Given the description of an element on the screen output the (x, y) to click on. 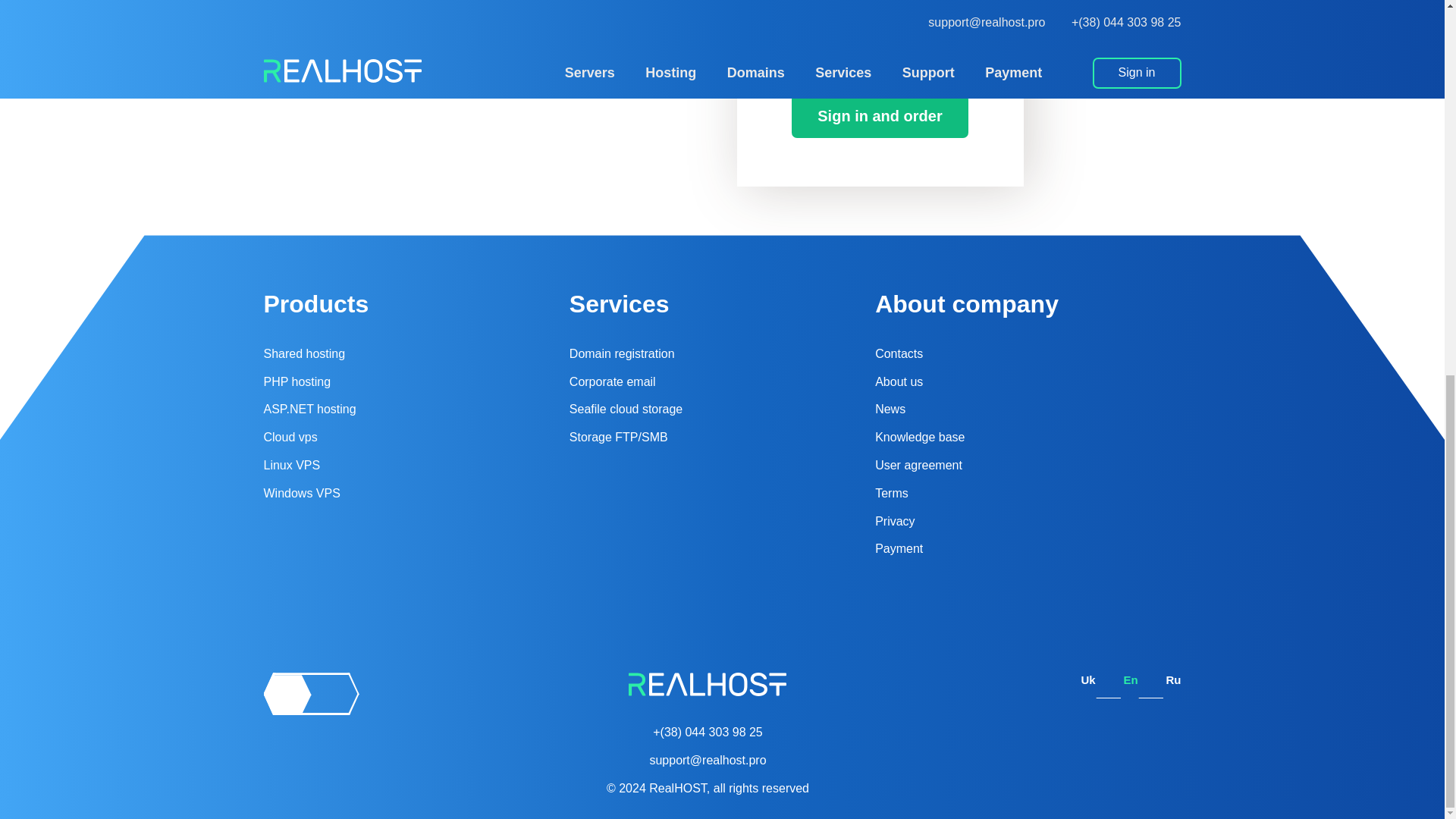
Contacts (899, 353)
ASP.NET hosting (309, 408)
Windows VPS (301, 492)
Cloud vps (290, 436)
About us (899, 381)
Domain registration (622, 353)
Corporate email (612, 381)
PHP hosting (297, 381)
Seafile cloud storage (625, 408)
News (890, 408)
Linux VPS (291, 464)
Sign in and order (880, 116)
Shared hosting (304, 353)
